Given the description of an element on the screen output the (x, y) to click on. 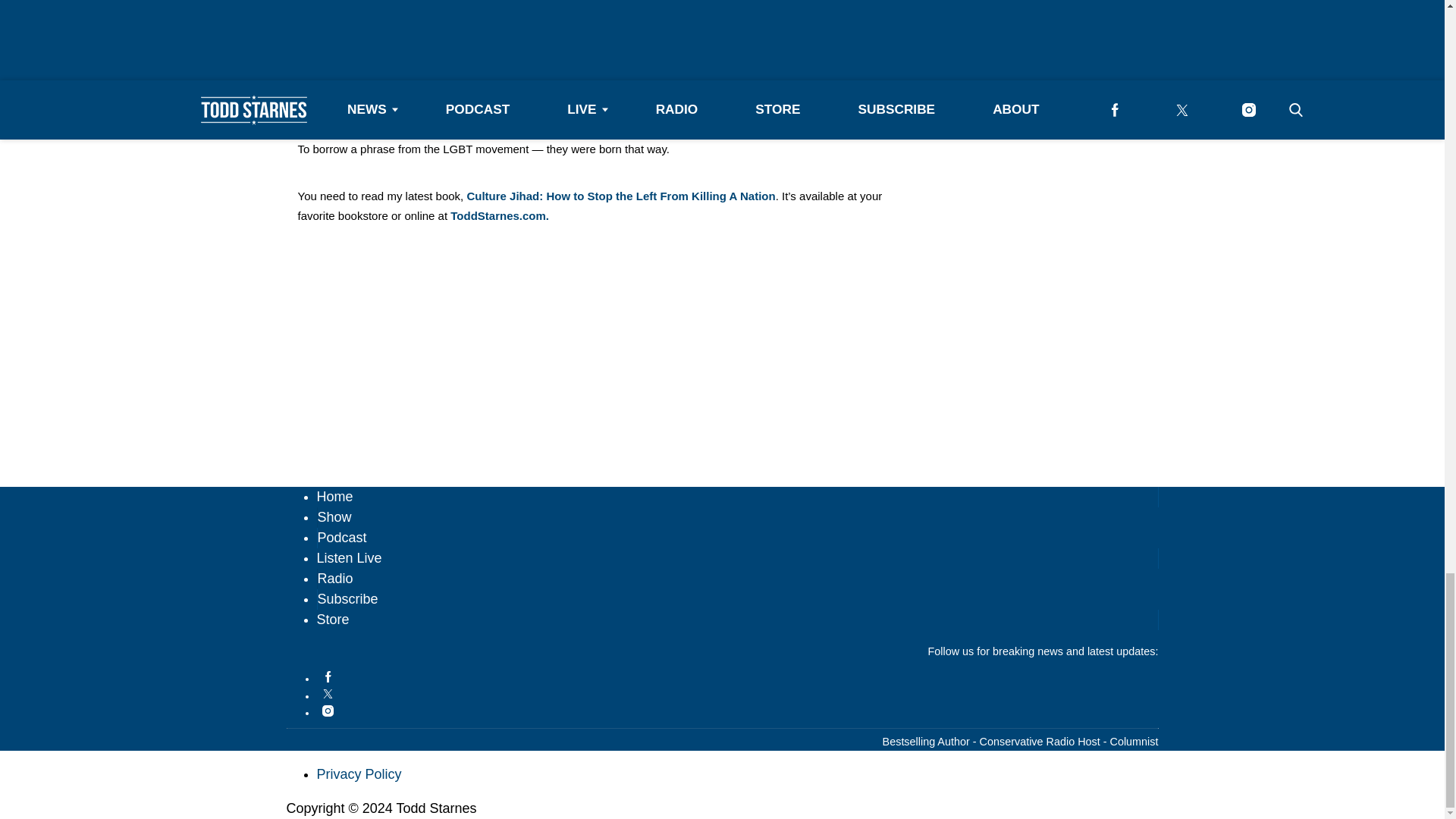
Radio (334, 578)
Home (335, 496)
Follow us on Twitter (737, 694)
ToddStarnes.com.  (500, 215)
Listen Live (349, 557)
Podcast (341, 537)
Follow us on Instagram (737, 710)
Culture Jihad: How to Stop the Left From Killing A Nation (619, 195)
Show (333, 516)
Follow us on Facebook (737, 676)
